Given the description of an element on the screen output the (x, y) to click on. 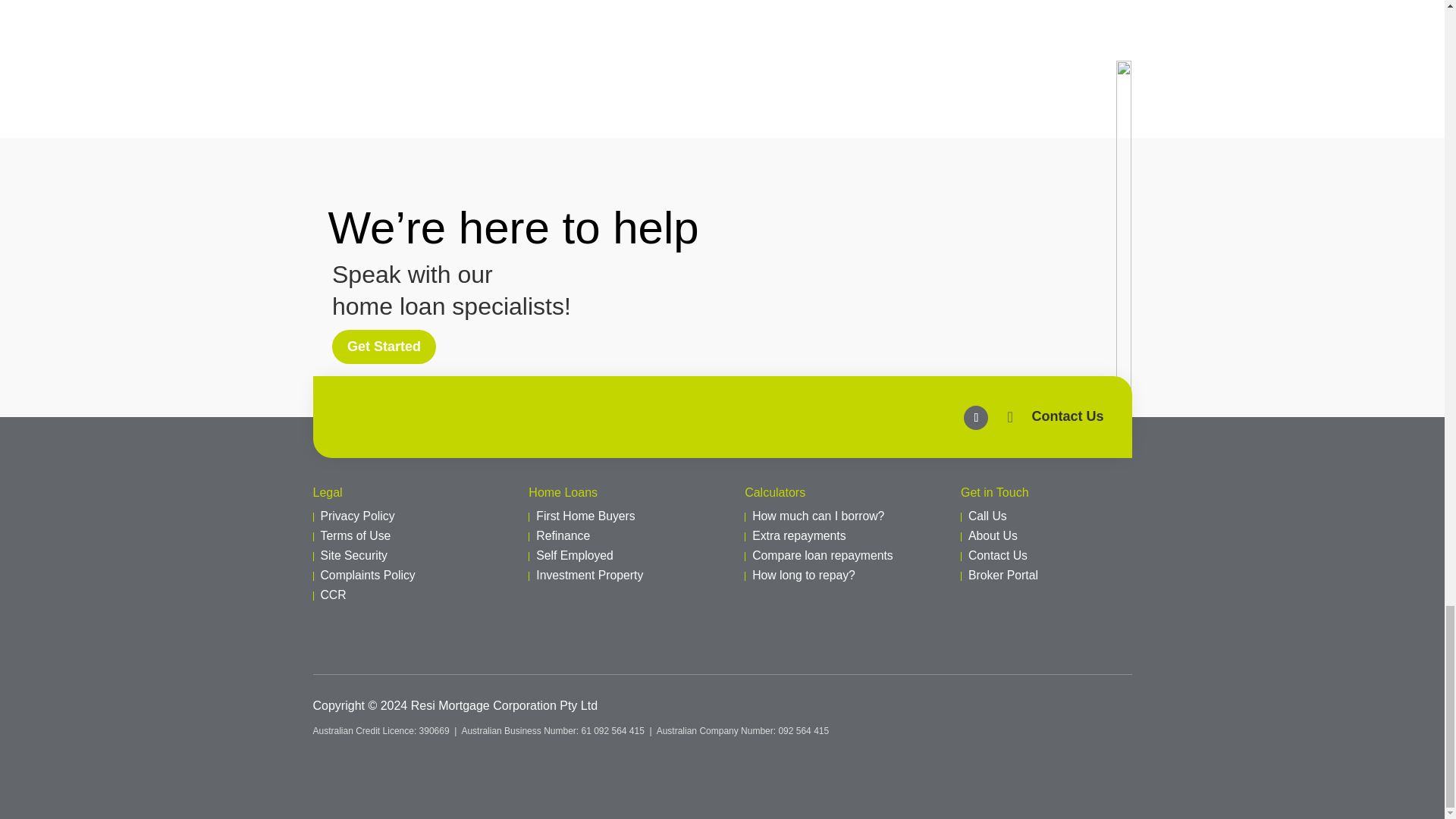
Refinance (562, 535)
Complaints Policy (367, 574)
Follow on LinkedIn (975, 417)
Extra repayments (798, 535)
Self Employed (573, 554)
Contact Us (1066, 416)
Privacy Policy (357, 515)
Site Security (353, 554)
CCR (333, 594)
First Home Buyers (584, 515)
